Given the description of an element on the screen output the (x, y) to click on. 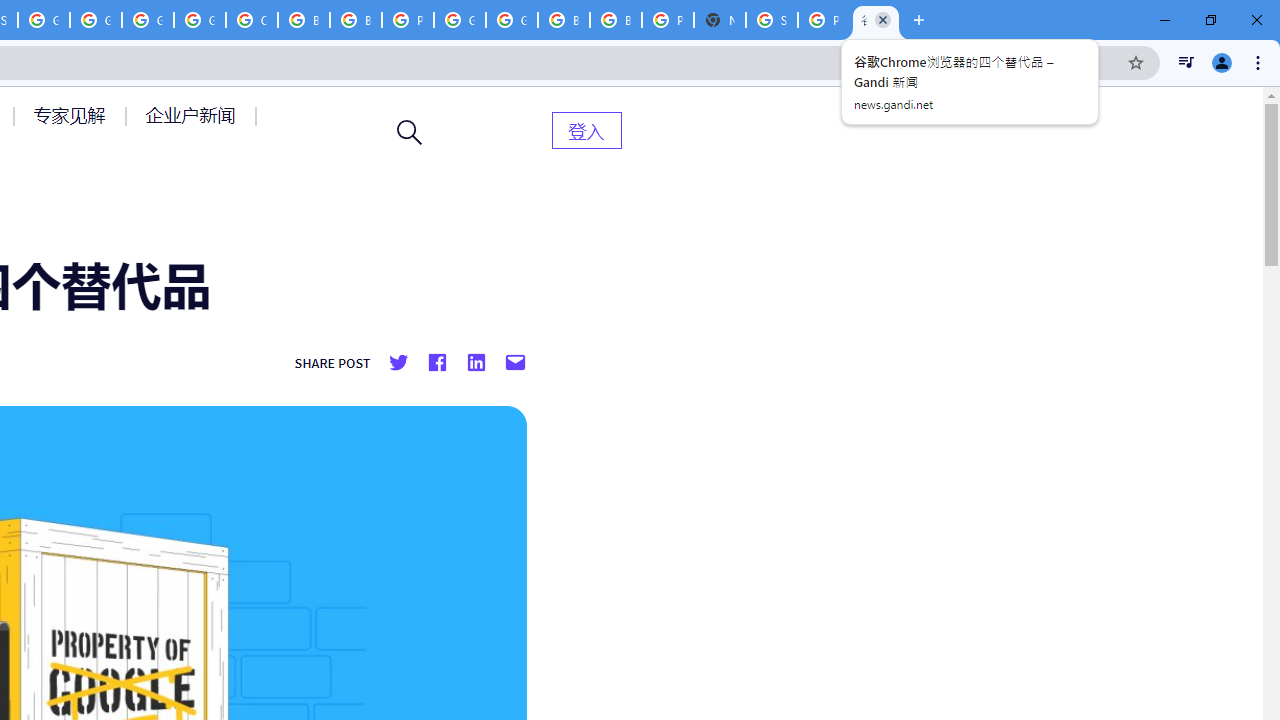
Sign in - Google Accounts (771, 20)
Browse Chrome as a guest - Computer - Google Chrome Help (303, 20)
Google Cloud Platform (147, 20)
Share on Linkedin (475, 363)
Open search form (410, 132)
New Tab (719, 20)
AutomationID: menu-item-82399 (586, 129)
